Given the description of an element on the screen output the (x, y) to click on. 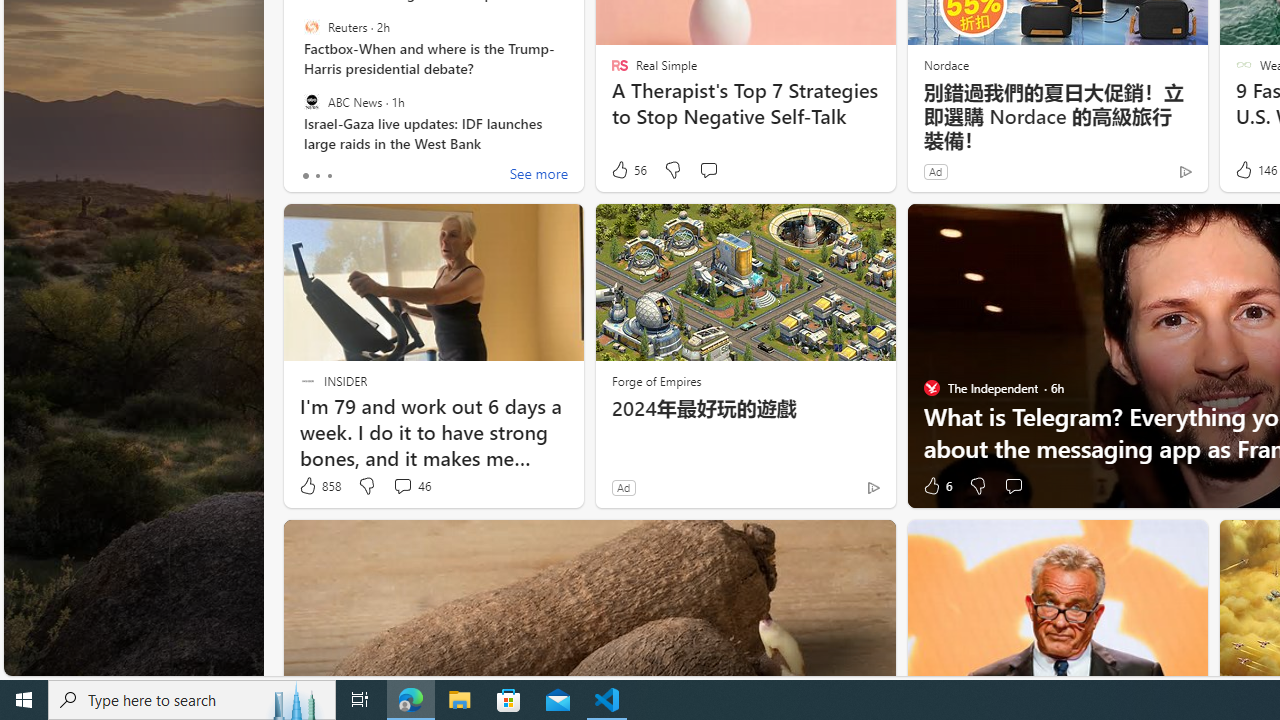
tab-0 (305, 175)
Start the conversation (1013, 485)
tab-2 (328, 175)
56 Like (628, 170)
Ad (623, 487)
tab-1 (317, 175)
Start the conversation (1012, 485)
Ad Choice (873, 487)
View comments 46 Comment (402, 485)
6 Like (936, 485)
